Given the description of an element on the screen output the (x, y) to click on. 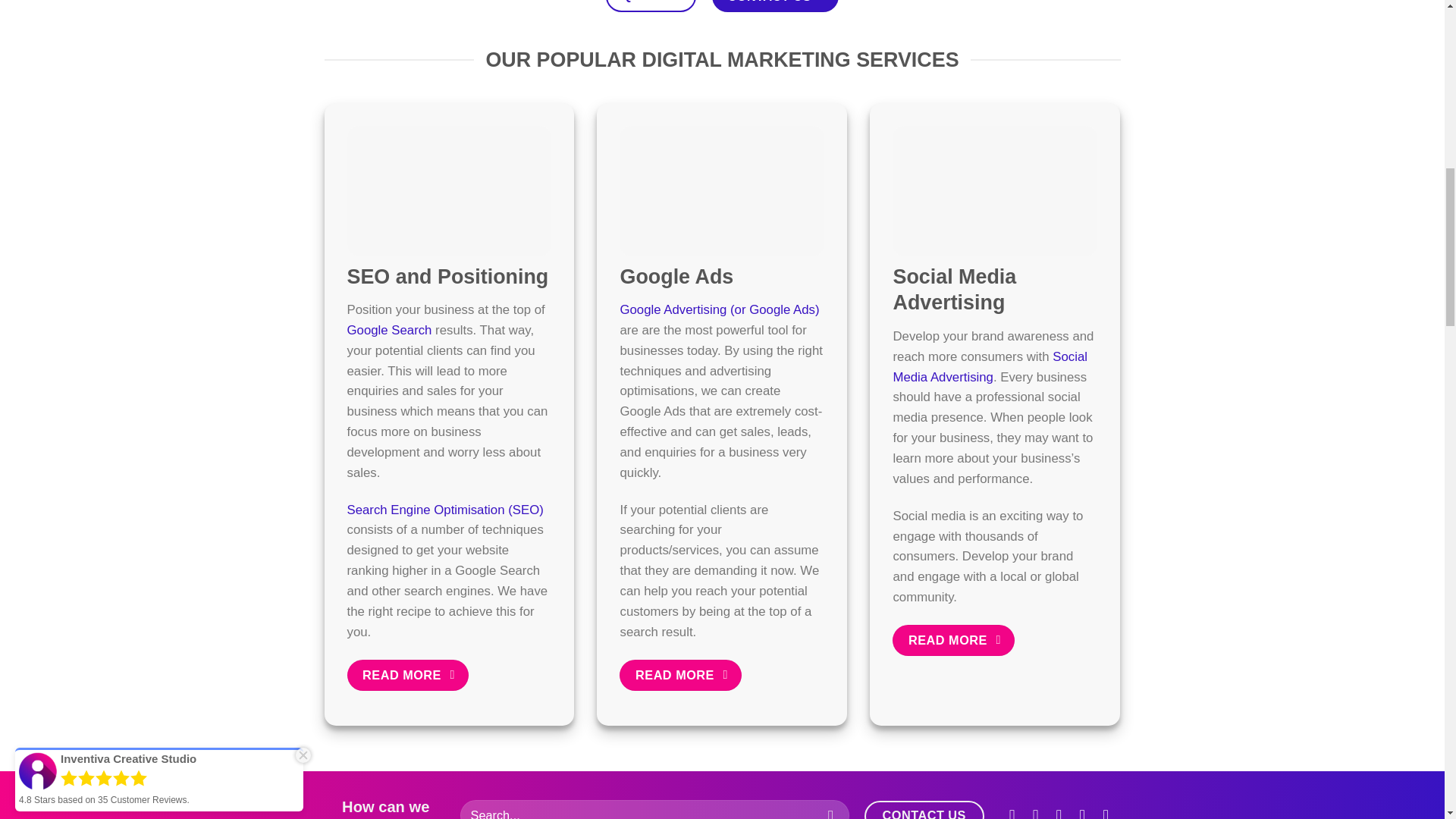
Follow on Facebook (1012, 812)
READ MORE (407, 675)
Follow on Twitter (1059, 812)
CONTACT US (774, 6)
Google Search (389, 329)
Follow on LinkedIn (1105, 812)
QUOTE (650, 6)
Follow on Instagram (1035, 812)
Follow on Pinterest (1082, 812)
